Given the description of an element on the screen output the (x, y) to click on. 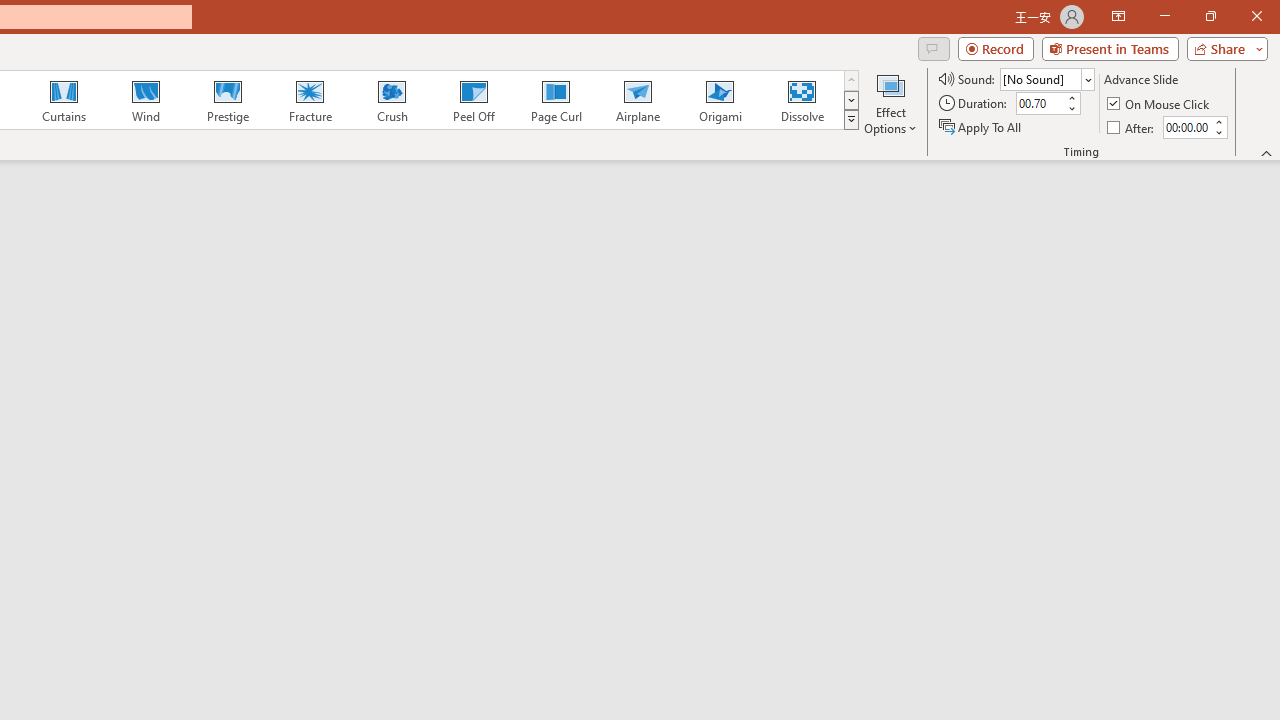
Prestige (227, 100)
Dissolve (802, 100)
Fracture (309, 100)
After (1131, 126)
Crush (391, 100)
Curtains (63, 100)
Apply To All (981, 126)
Origami (719, 100)
Page Curl (555, 100)
